Given the description of an element on the screen output the (x, y) to click on. 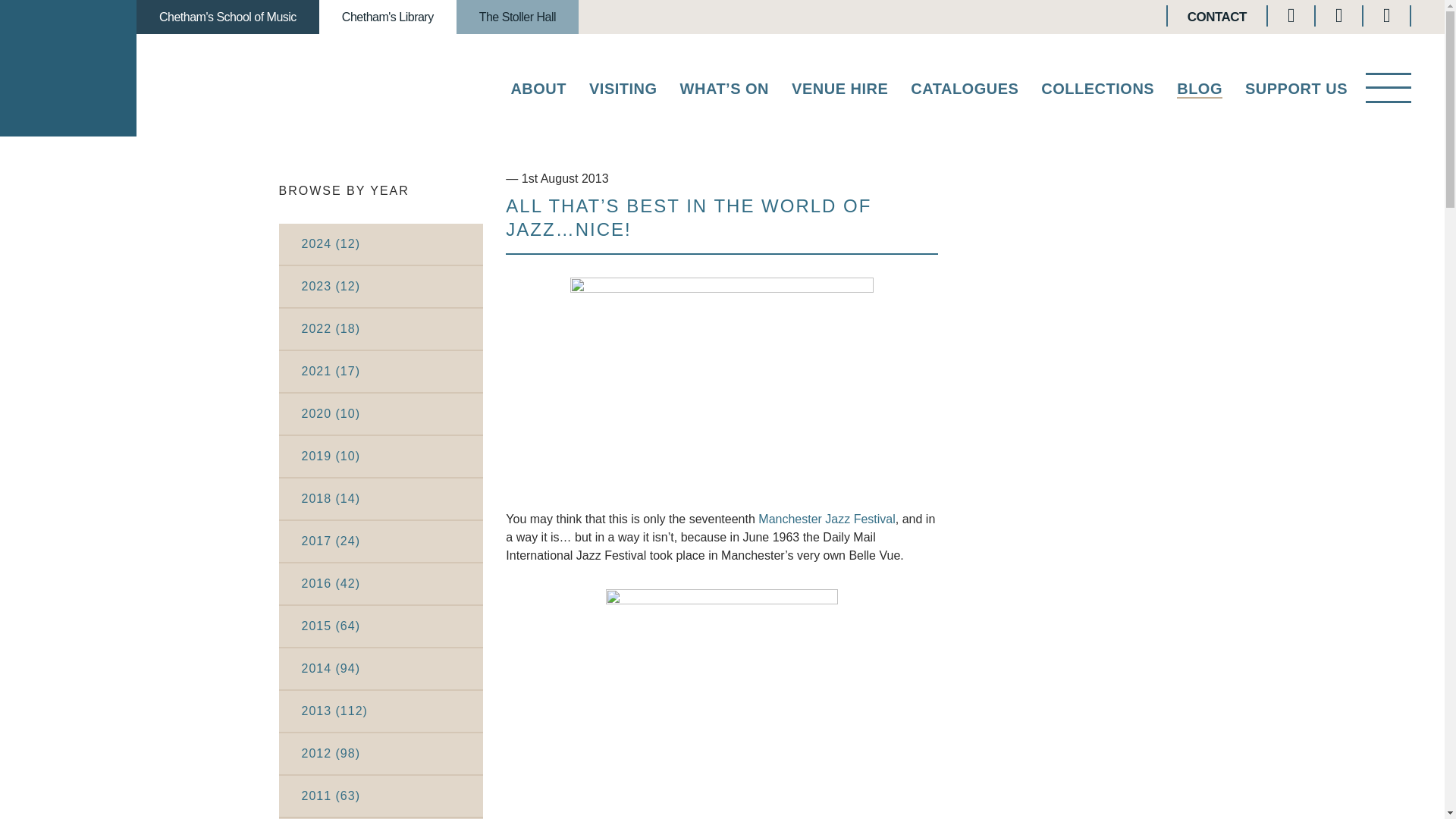
CHETHAM'S LIBRARY (68, 68)
Chetham's School of Music (227, 16)
The Stoller Hall (517, 16)
CATALOGUES (964, 91)
Chetham's Library (387, 16)
VISITING (623, 91)
CONTACT (1217, 16)
ABOUT (538, 91)
VENUE HIRE (840, 91)
